Given the description of an element on the screen output the (x, y) to click on. 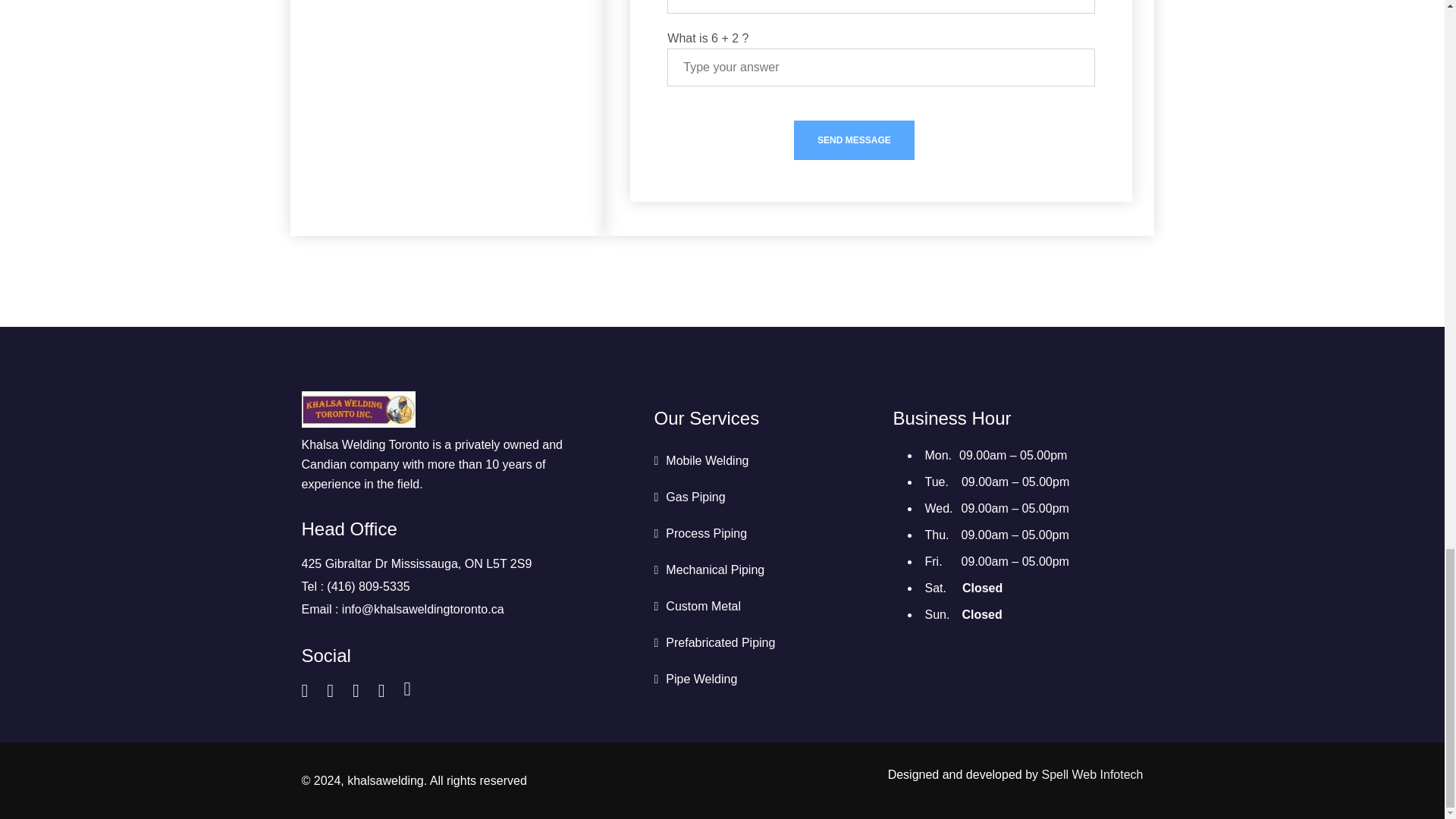
425 Gibraltar Dr Mississauga, ON L5T 2S9 (416, 563)
Send Message (853, 139)
Send Message (853, 139)
